Given the description of an element on the screen output the (x, y) to click on. 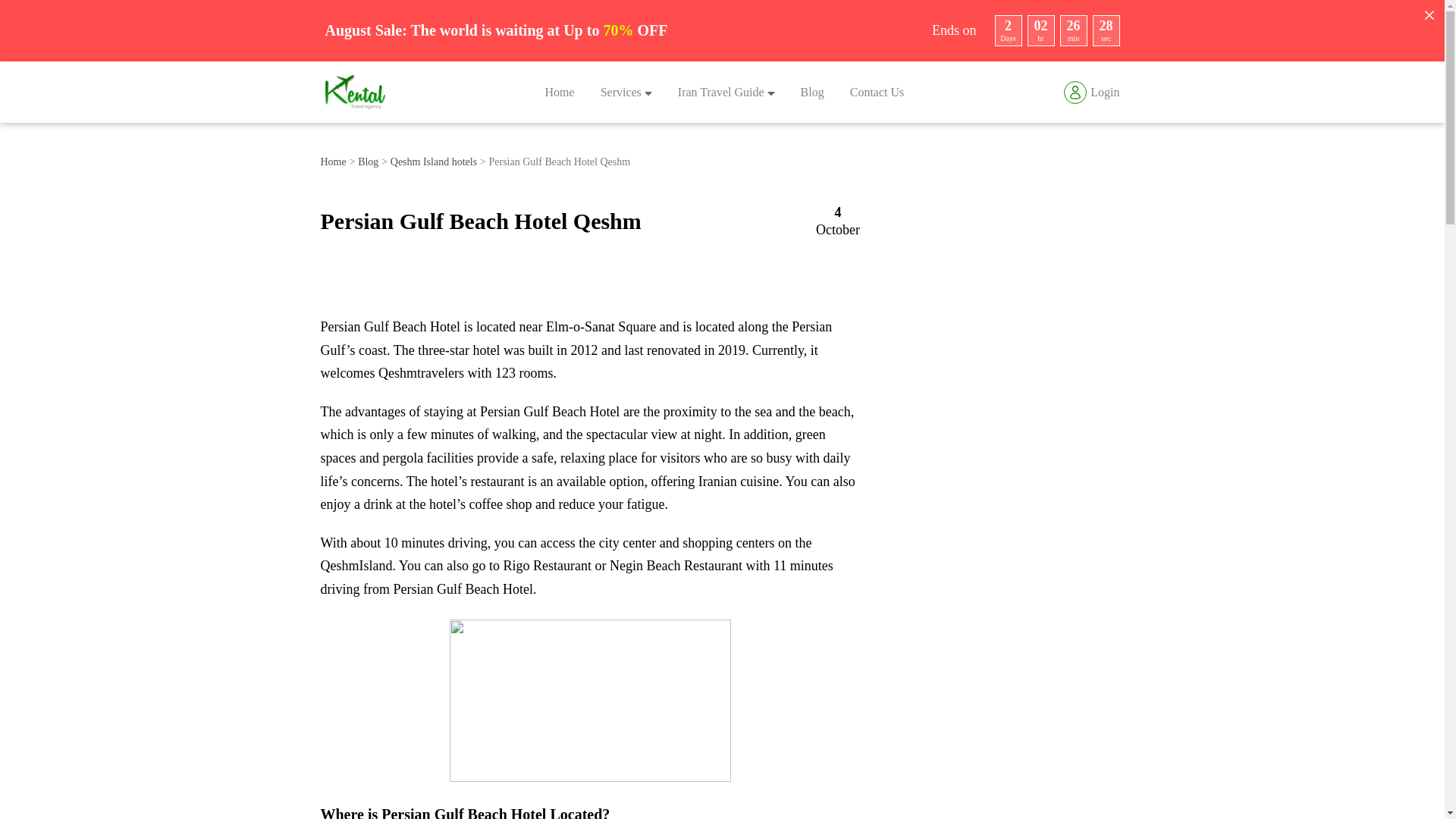
Contact Us (877, 92)
Iran Travel Guide (726, 92)
Login (1091, 91)
Blog (368, 162)
Home (333, 162)
Blog (812, 92)
Services (625, 92)
Kental (354, 91)
Home (559, 92)
Qeshm Island hotels (433, 162)
